Given the description of an element on the screen output the (x, y) to click on. 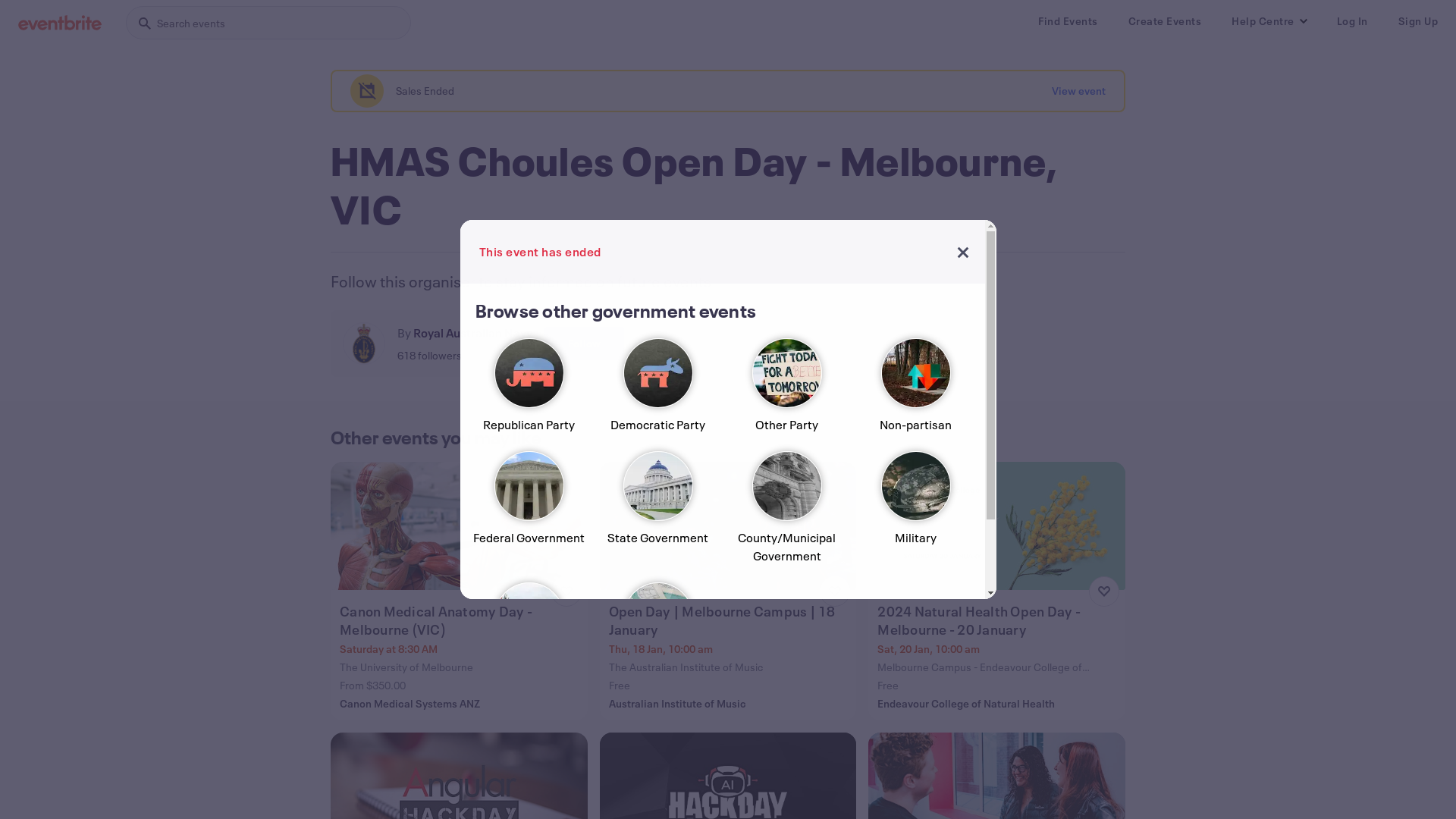
Non-partisan Element type: text (914, 391)
Democratic Party Element type: text (657, 391)
Log In Element type: text (1351, 21)
State Government Element type: text (657, 513)
Open Day | Melbourne Campus | 18 January Element type: text (729, 620)
Federal Government Element type: text (528, 513)
Military Element type: text (914, 513)
International Affairs Element type: text (528, 635)
Find Events Element type: text (1068, 21)
County/Municipal Government Element type: text (785, 513)
Create Events Element type: text (1165, 21)
Canon Medical Anatomy Day - Melbourne (VIC) Element type: text (460, 620)
National Security Element type: text (657, 635)
View event Element type: text (1078, 90)
Follow Element type: text (584, 343)
2024 Natural Health Open Day - Melbourne - 20 January Element type: text (998, 620)
Sign Up Element type: text (1418, 21)
Search events Element type: text (268, 22)
Other Party Element type: text (785, 391)
Republican Party Element type: text (528, 391)
Eventbrite Element type: hover (59, 22)
